Given the description of an element on the screen output the (x, y) to click on. 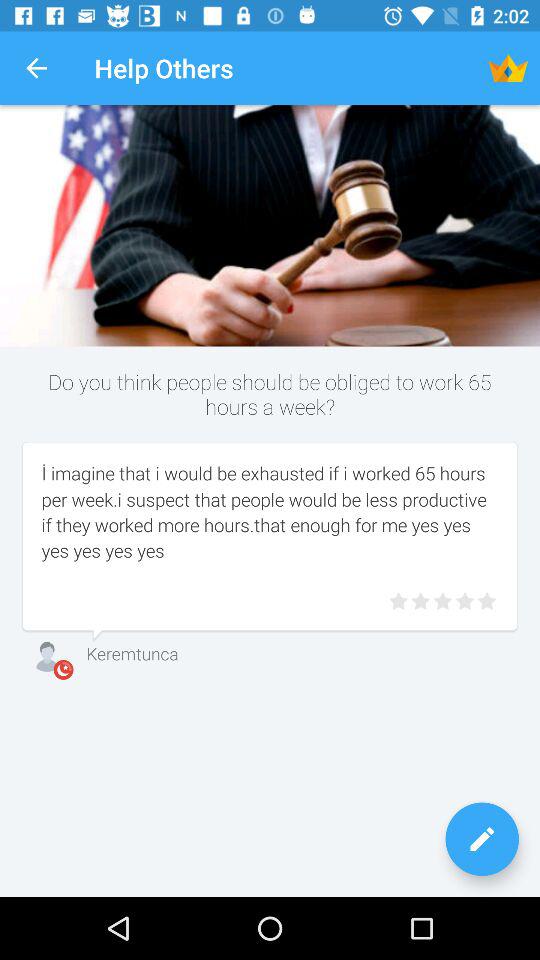
choose the app next to the help others app (36, 68)
